Given the description of an element on the screen output the (x, y) to click on. 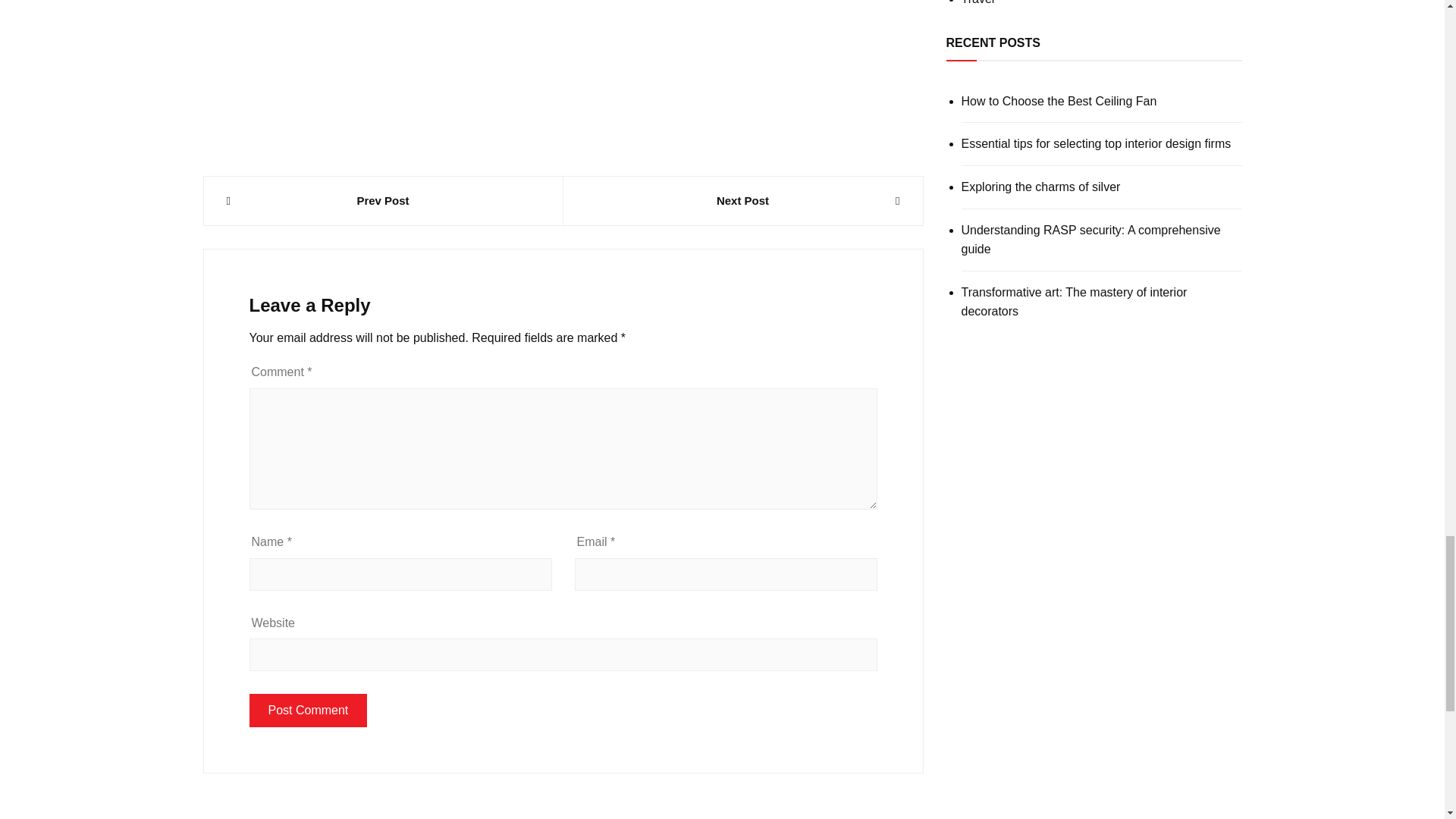
Post Comment (307, 710)
